Given the description of an element on the screen output the (x, y) to click on. 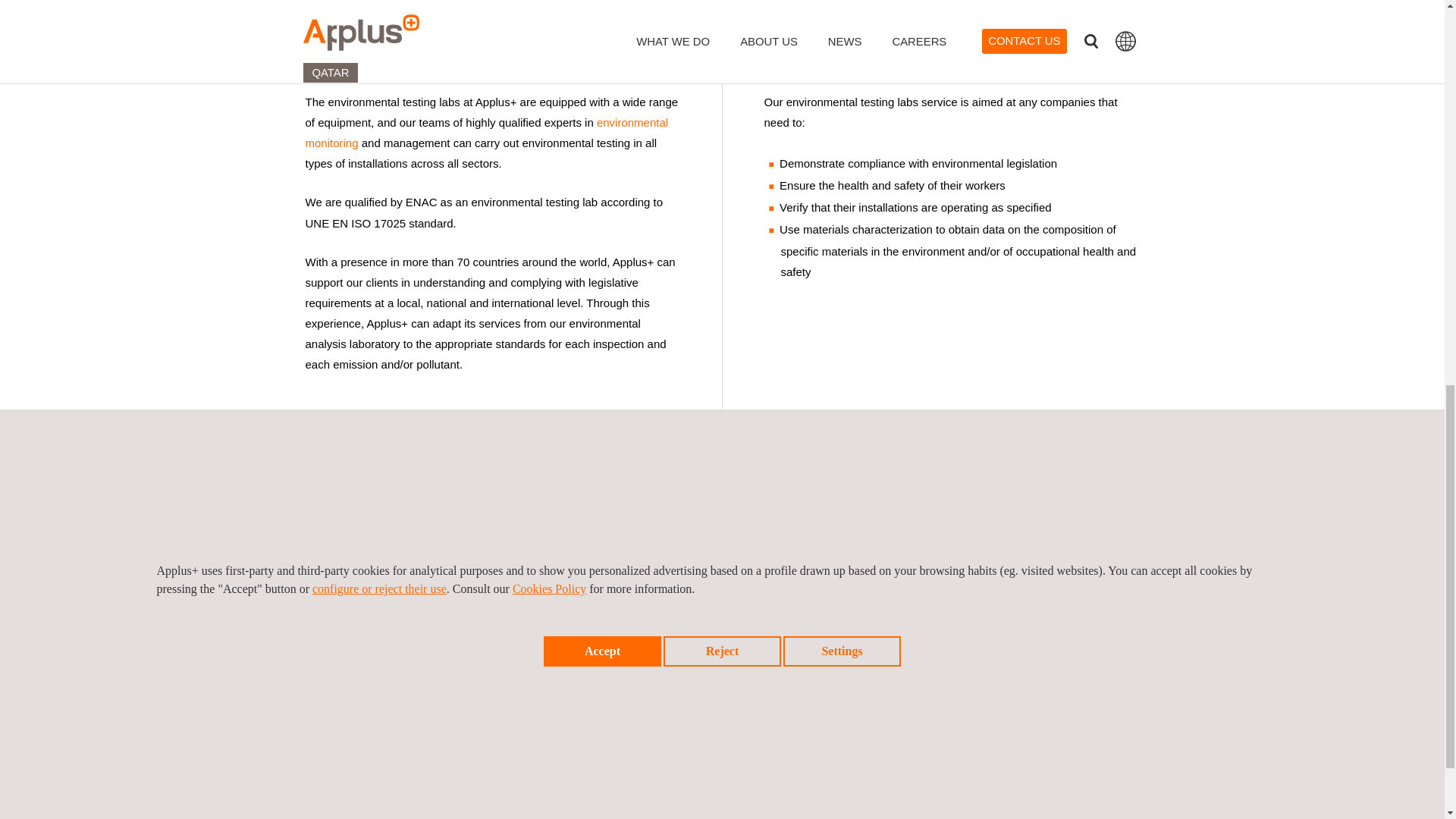
DOWNLOAD PDF VERSION (1007, 6)
environmental monitoring (486, 132)
Environmental Health Laboratory (1007, 6)
